Given the description of an element on the screen output the (x, y) to click on. 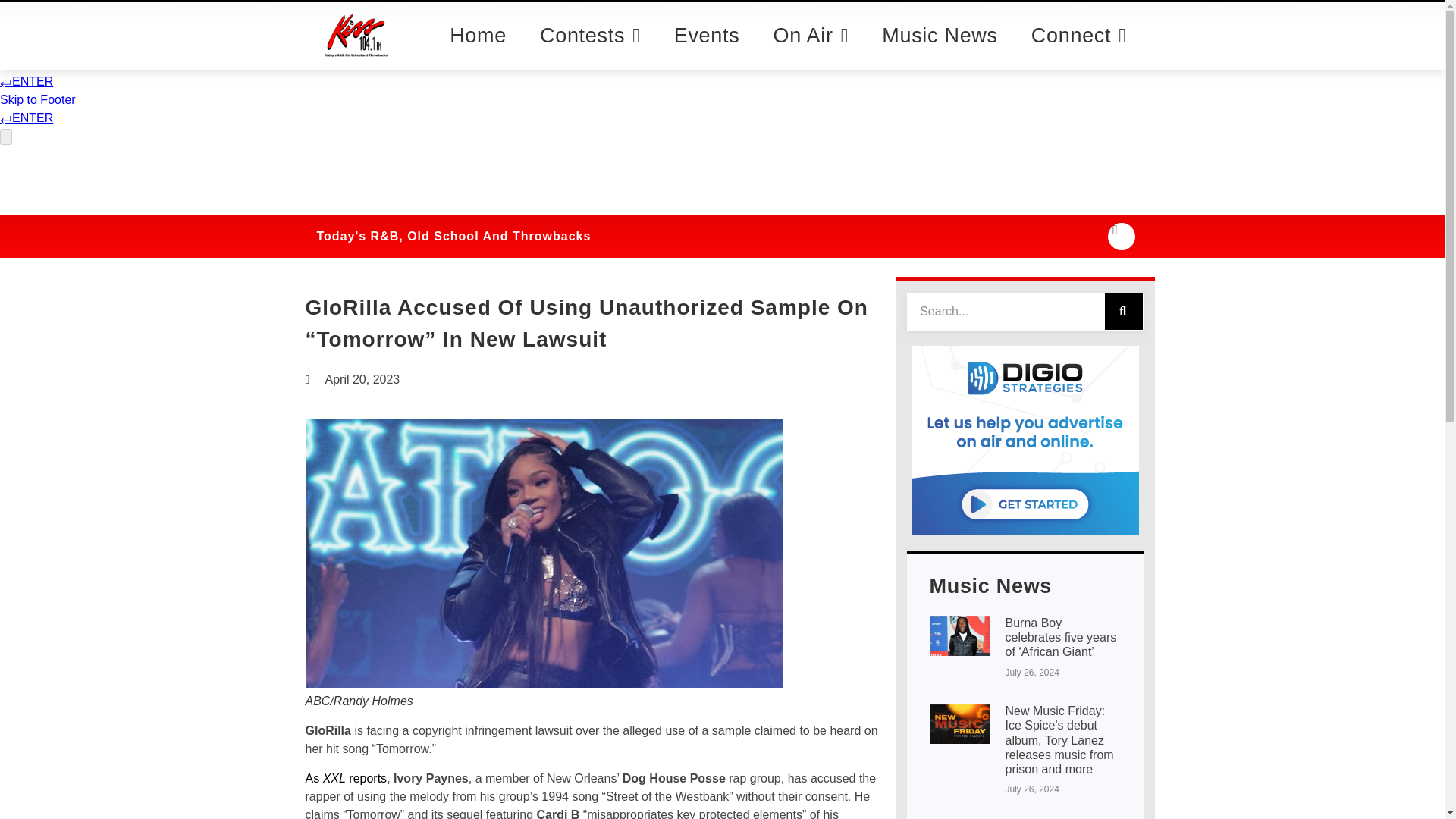
Connect (1078, 38)
Events (706, 46)
On Air (810, 45)
Contests (590, 58)
Home (477, 62)
Music News (939, 39)
